Given the description of an element on the screen output the (x, y) to click on. 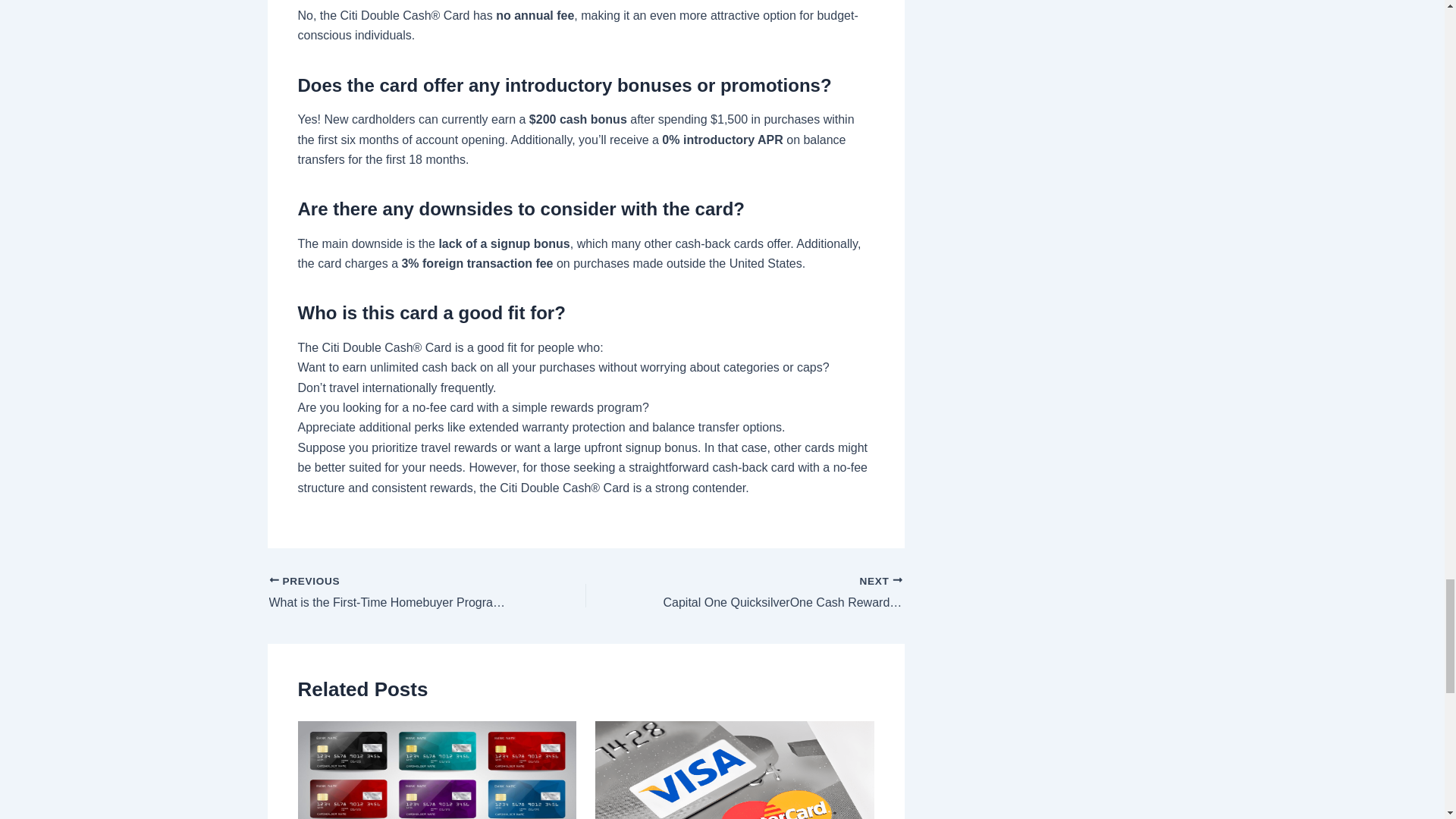
Capital One QuicksilverOne Cash Rewards Card (774, 593)
What is the First-Time Homebuyer Program? (394, 593)
